Given the description of an element on the screen output the (x, y) to click on. 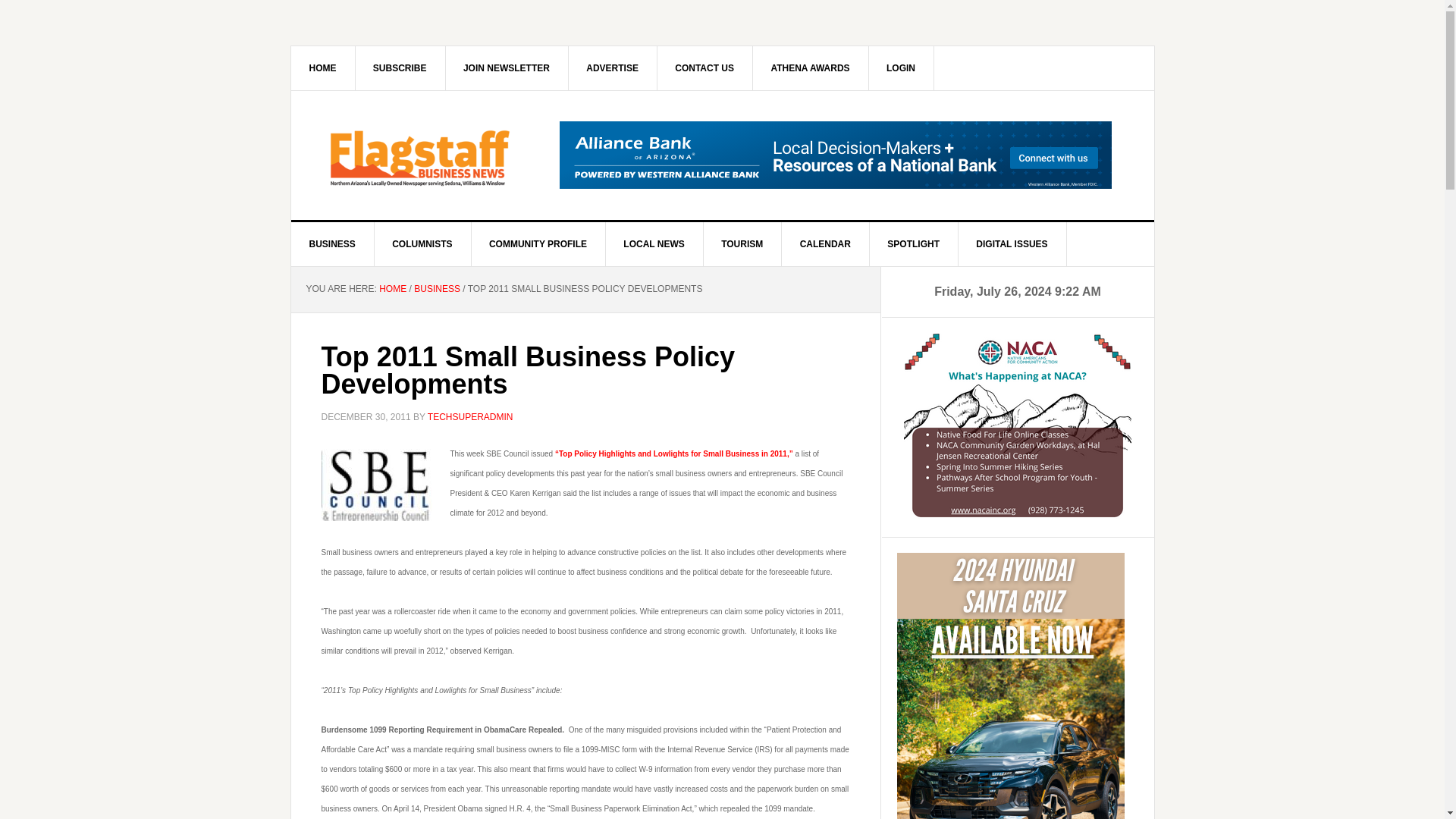
HOME (323, 67)
CALENDAR (825, 243)
HOME (392, 288)
LOGIN (900, 67)
DIGITAL ISSUES (1011, 243)
SBE logo (376, 481)
ATHENA AWARDS (809, 67)
LOCAL NEWS (654, 243)
COLUMNISTS (422, 243)
ADVERTISE (612, 67)
SPOTLIGHT (913, 243)
SUBSCRIBE (400, 67)
TECHSUPERADMIN (470, 416)
BUSINESS (332, 243)
FLAGSTAFF BUSINESS NEWS (419, 155)
